Given the description of an element on the screen output the (x, y) to click on. 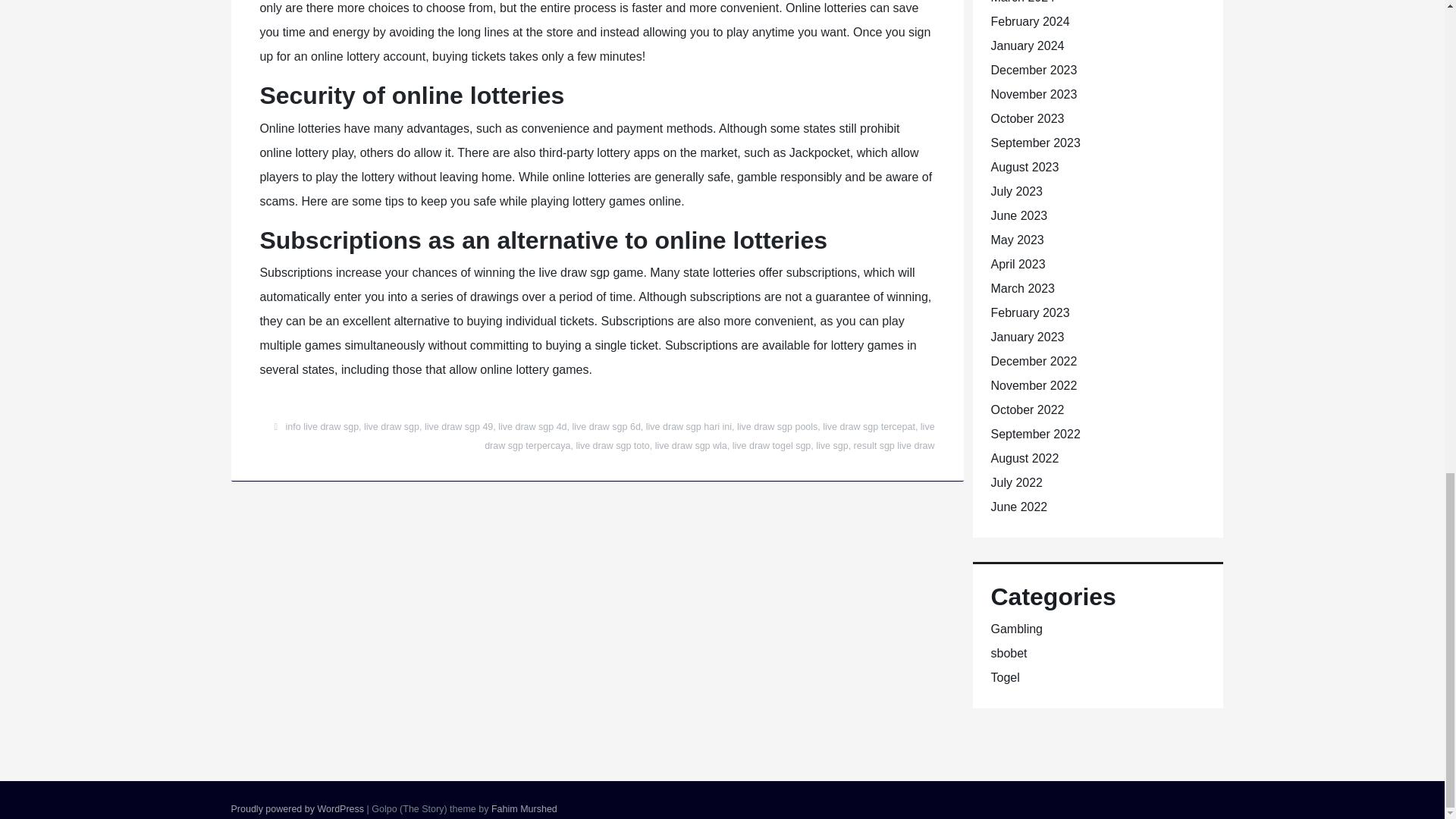
October 2023 (1027, 118)
live sgp (831, 445)
December 2023 (1033, 69)
live draw sgp 49 (459, 426)
live draw sgp pools (776, 426)
live draw sgp 6d (606, 426)
live draw sgp (391, 426)
info live draw sgp (322, 426)
live draw sgp tercepat (868, 426)
live draw sgp 4d (531, 426)
